Given the description of an element on the screen output the (x, y) to click on. 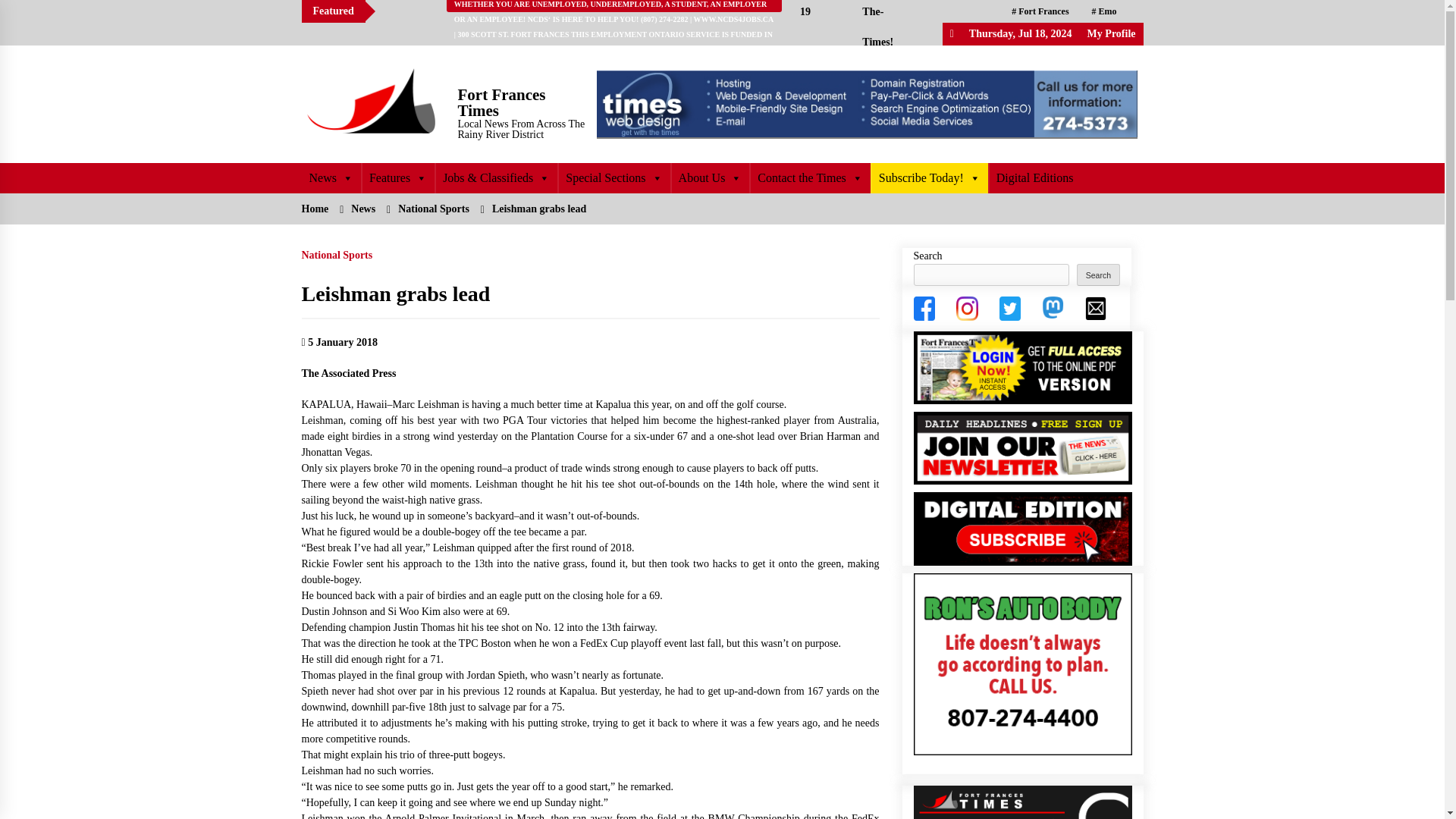
Fort Frances Times (502, 102)
My Profile (1111, 33)
News (331, 177)
Dryden (1090, 33)
Fort Frances (1040, 11)
Features (397, 177)
Ontario (1030, 33)
Emo (1104, 11)
